Given the description of an element on the screen output the (x, y) to click on. 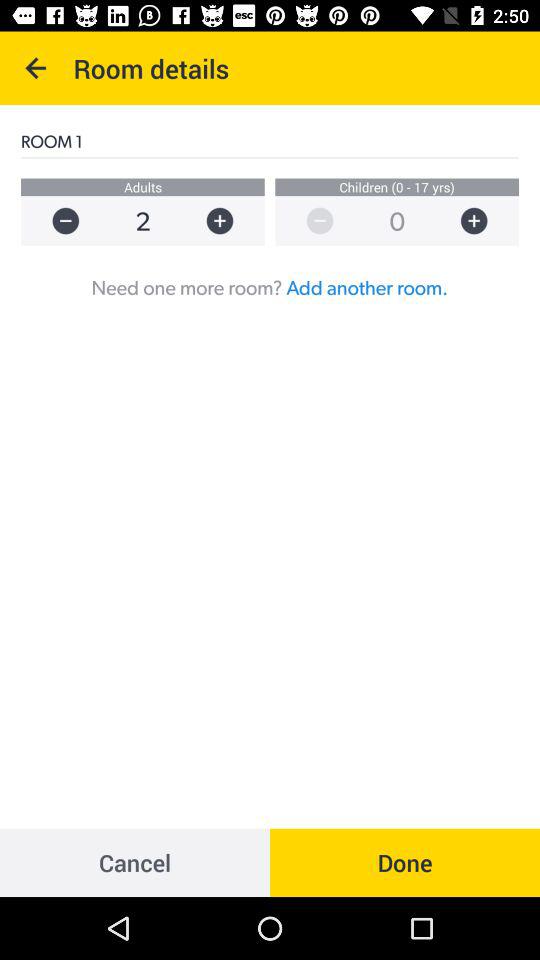
choose the icon above room 1 icon (36, 68)
